Given the description of an element on the screen output the (x, y) to click on. 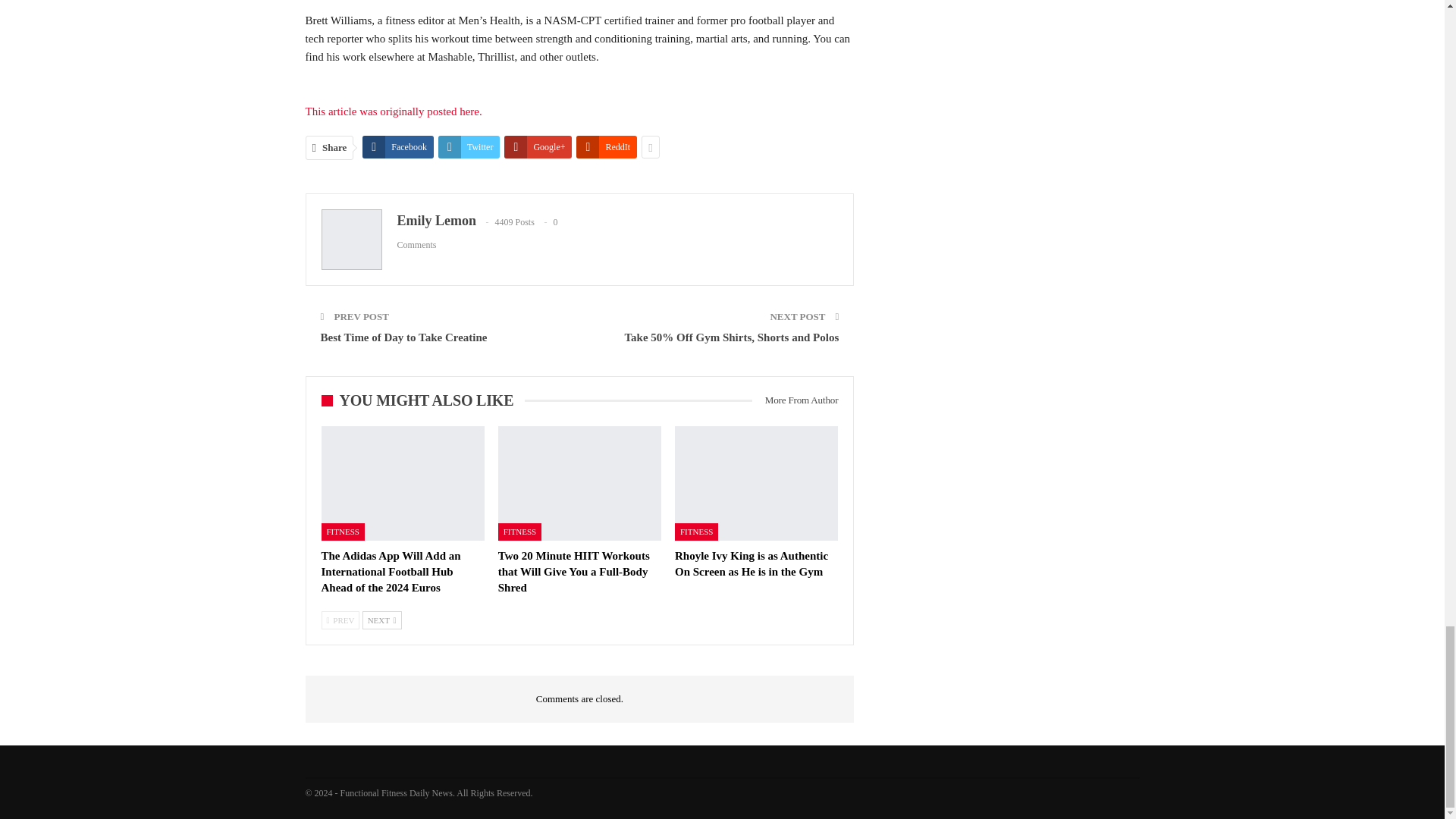
Twitter (468, 146)
ReddIt (606, 146)
Next (381, 619)
Previous (340, 619)
This article was originally posted here. (392, 111)
Facebook (397, 146)
